Given the description of an element on the screen output the (x, y) to click on. 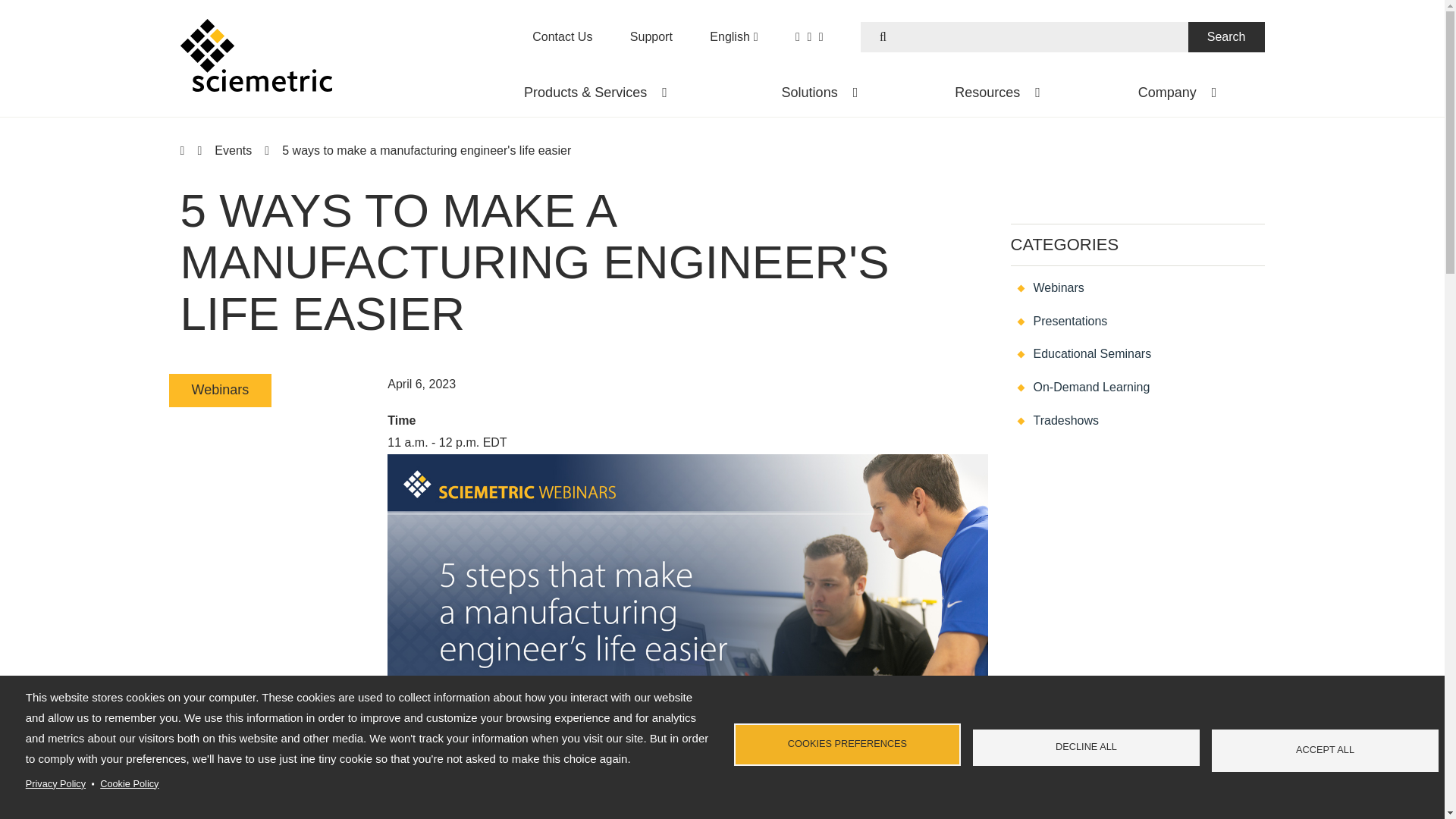
Contact Us (562, 36)
Support (651, 36)
Search (1226, 37)
English (733, 36)
